Given the description of an element on the screen output the (x, y) to click on. 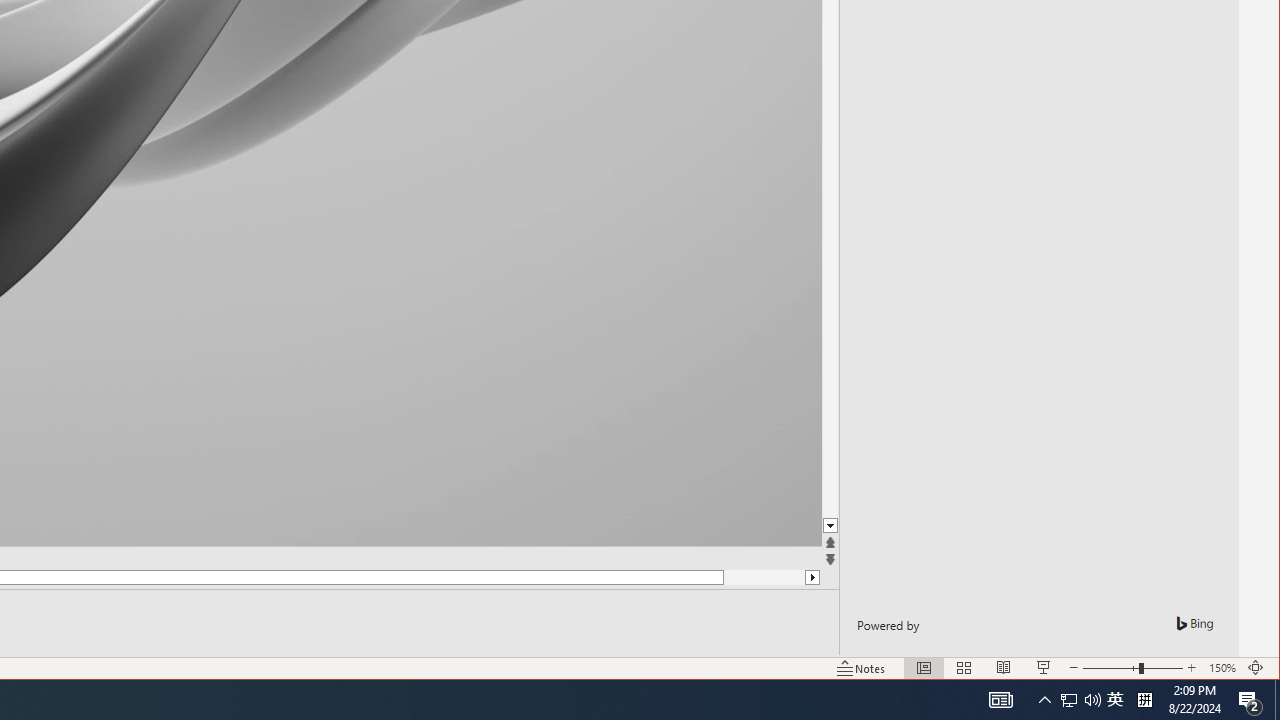
Tray Input Indicator - Chinese (Simplified, China) (1069, 699)
